Given the description of an element on the screen output the (x, y) to click on. 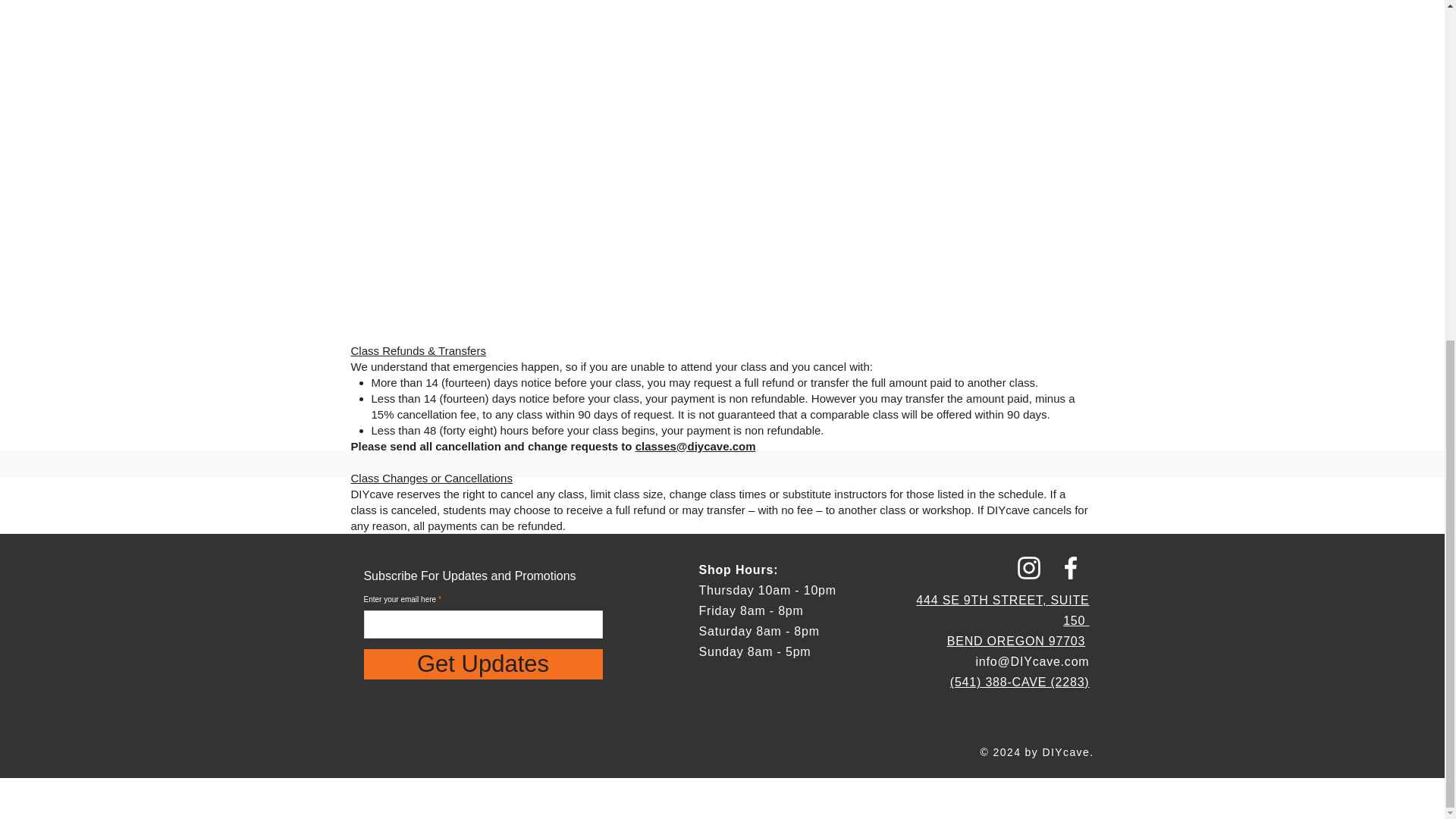
BEND OREGON 97703 (1016, 640)
Get Updates (483, 664)
444 SE 9TH STREET, SUITE 150  (1002, 610)
